Given the description of an element on the screen output the (x, y) to click on. 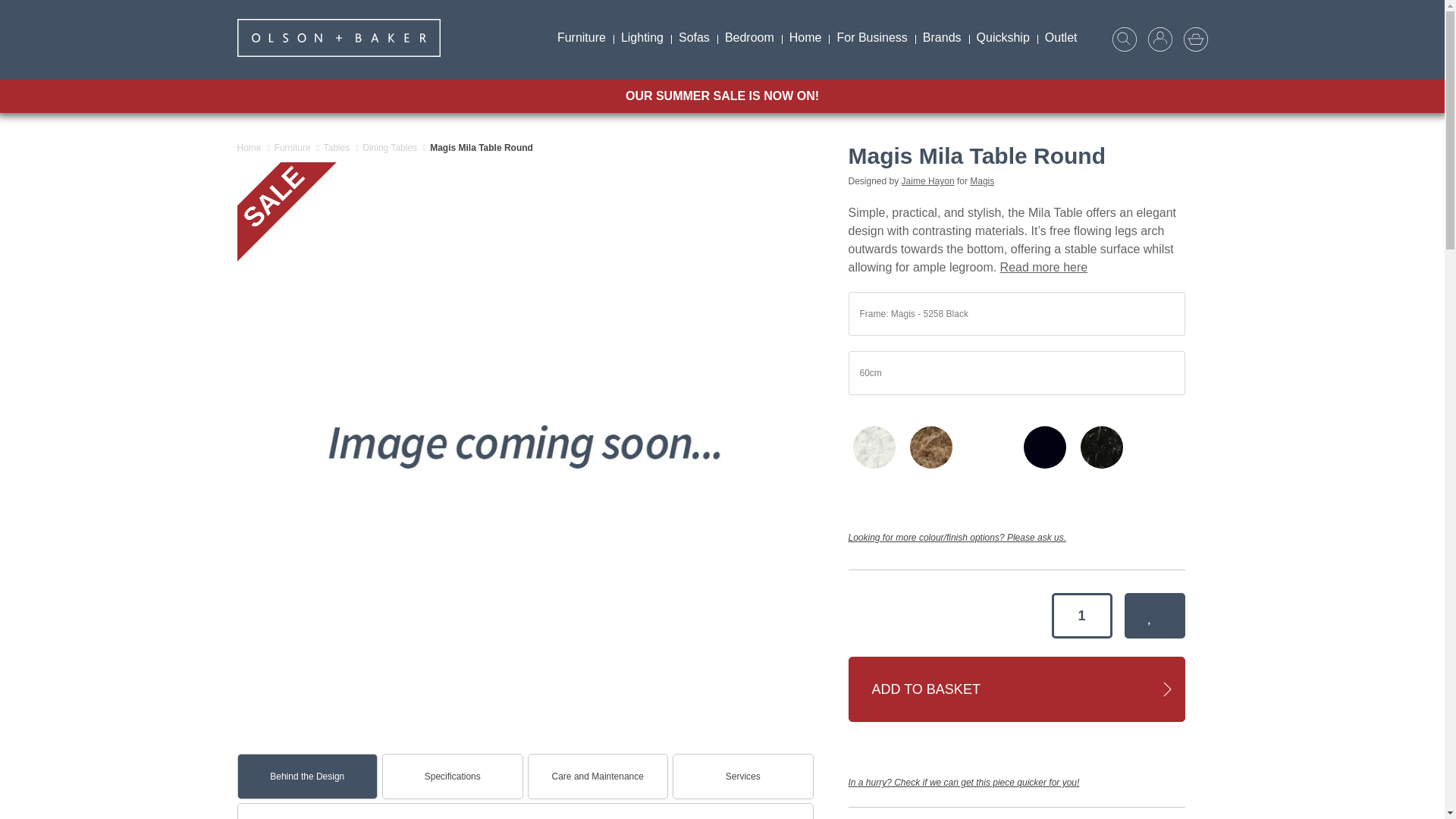
Bedroom (749, 37)
Furniture (581, 37)
Carrara Marble White (874, 447)
1 (1081, 615)
For Business (871, 37)
Marquina Marble Black (1101, 447)
Brands (942, 37)
Quickship (1002, 37)
Home (805, 37)
Emperador Marble (931, 447)
Lighting (641, 37)
Outlet (1060, 37)
Sofas (694, 37)
